Given the description of an element on the screen output the (x, y) to click on. 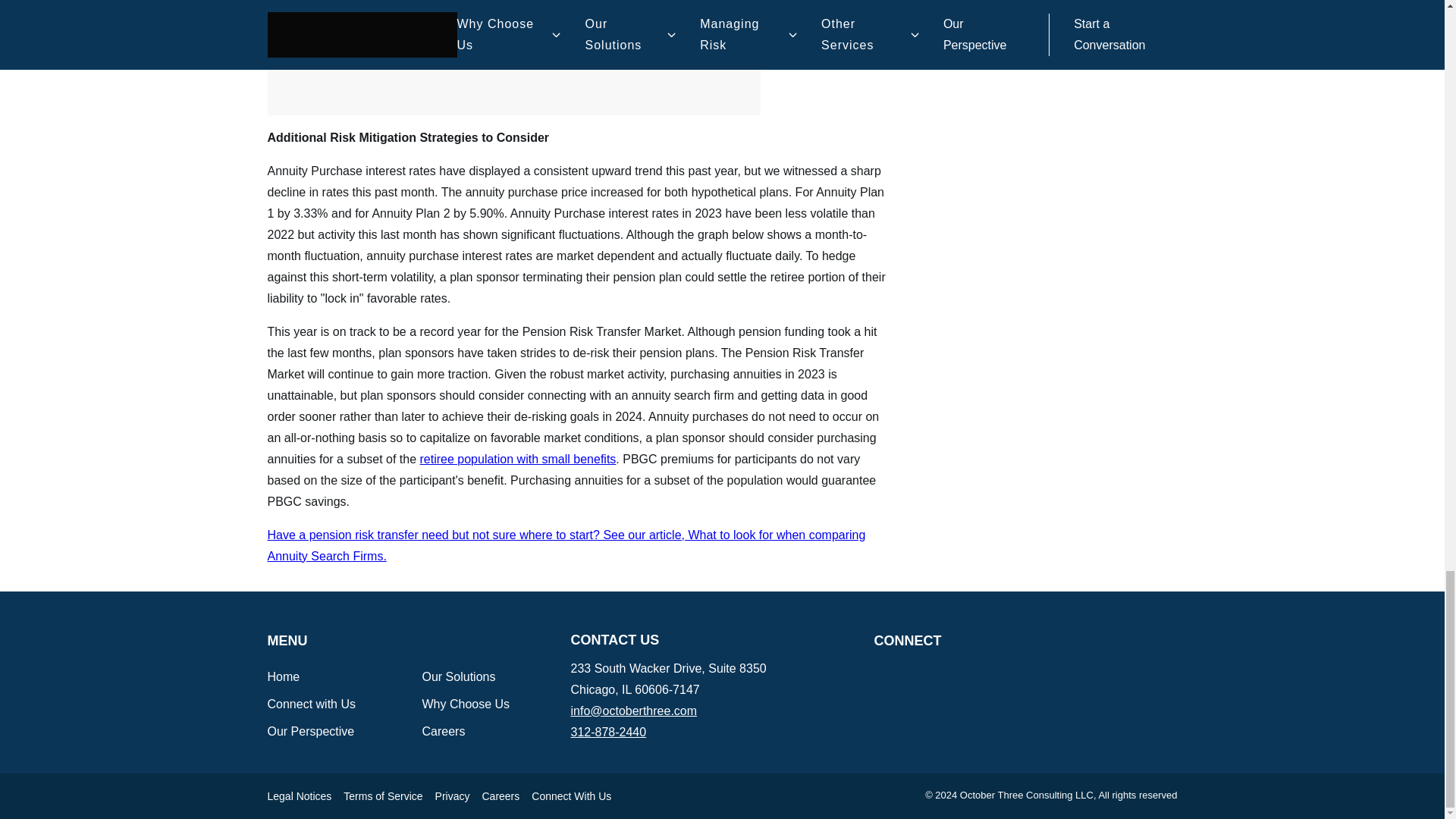
retiree population with small benefits (517, 459)
Our Solutions (458, 676)
Why Choose Us (465, 703)
Connect with Us (310, 703)
Our Perspective (309, 730)
Careers (443, 730)
Home (282, 676)
